Given the description of an element on the screen output the (x, y) to click on. 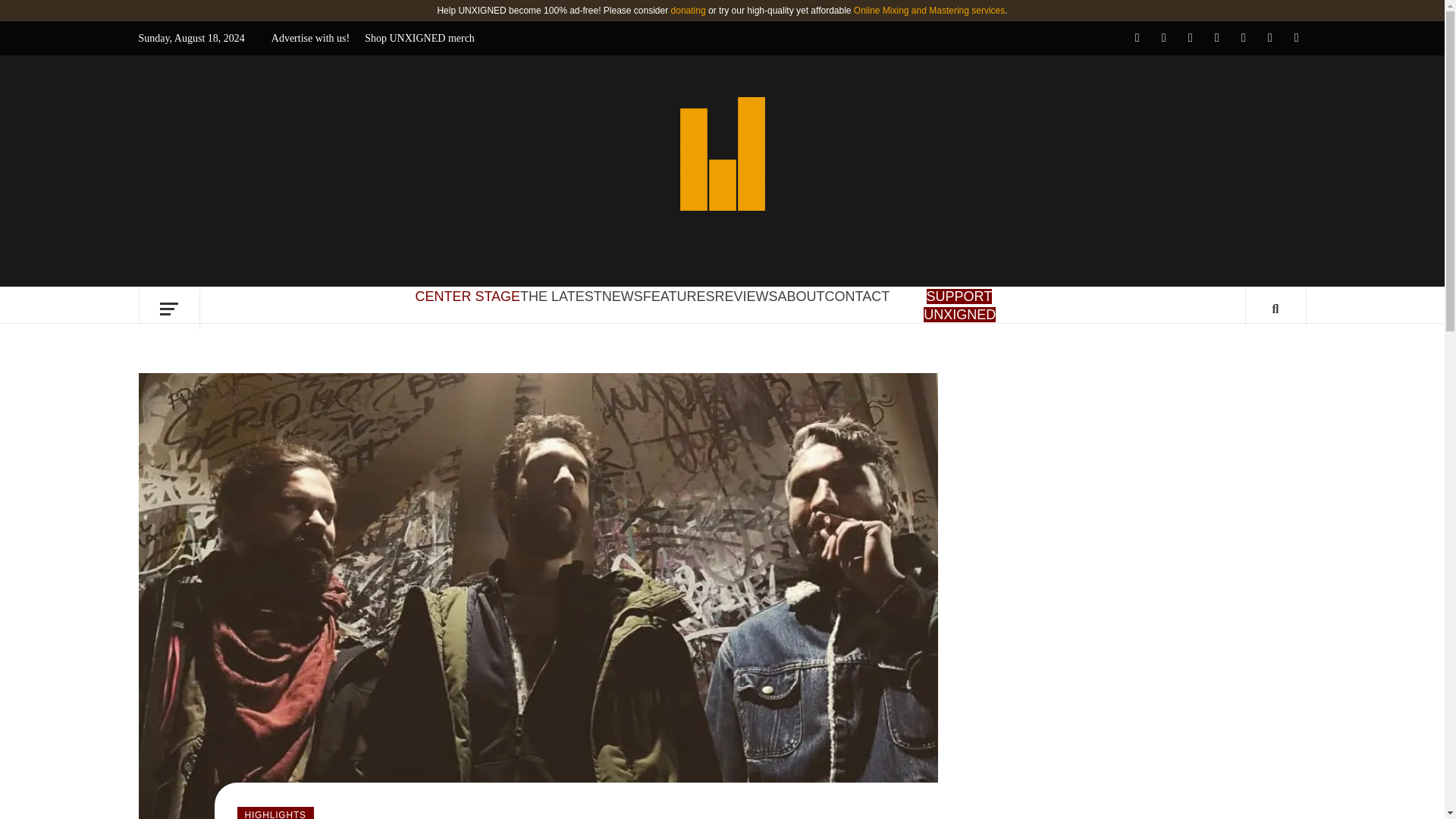
Online Mixing and Mastering services (928, 9)
Advertise with us! (313, 38)
donating (688, 9)
FEATURES (678, 296)
THE LATEST (560, 296)
NEWS (622, 296)
UNXIGNED (878, 120)
CENTER STAGE (466, 296)
Shop UNXIGNED merch (418, 38)
